Given the description of an element on the screen output the (x, y) to click on. 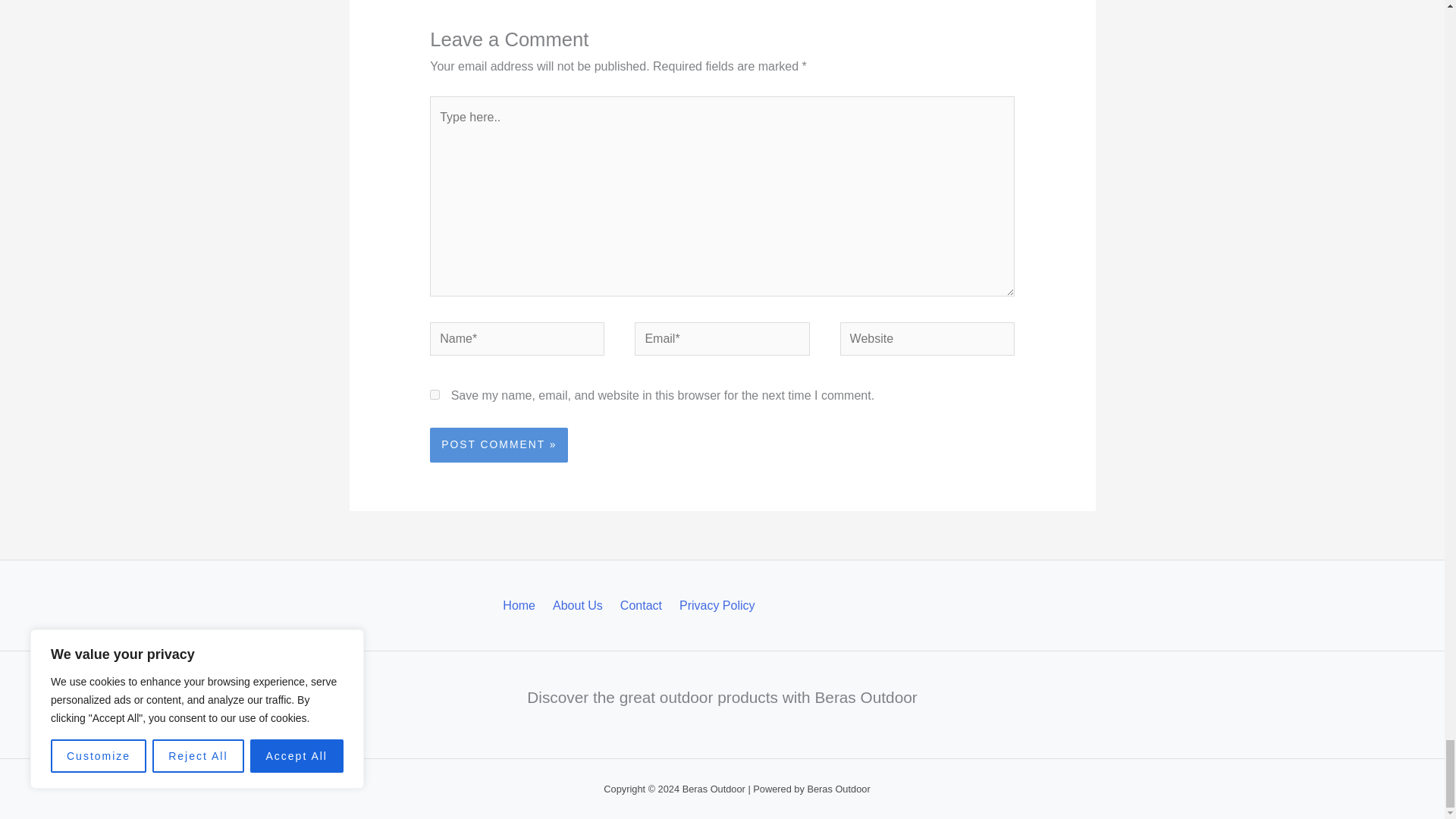
yes (434, 394)
